Given the description of an element on the screen output the (x, y) to click on. 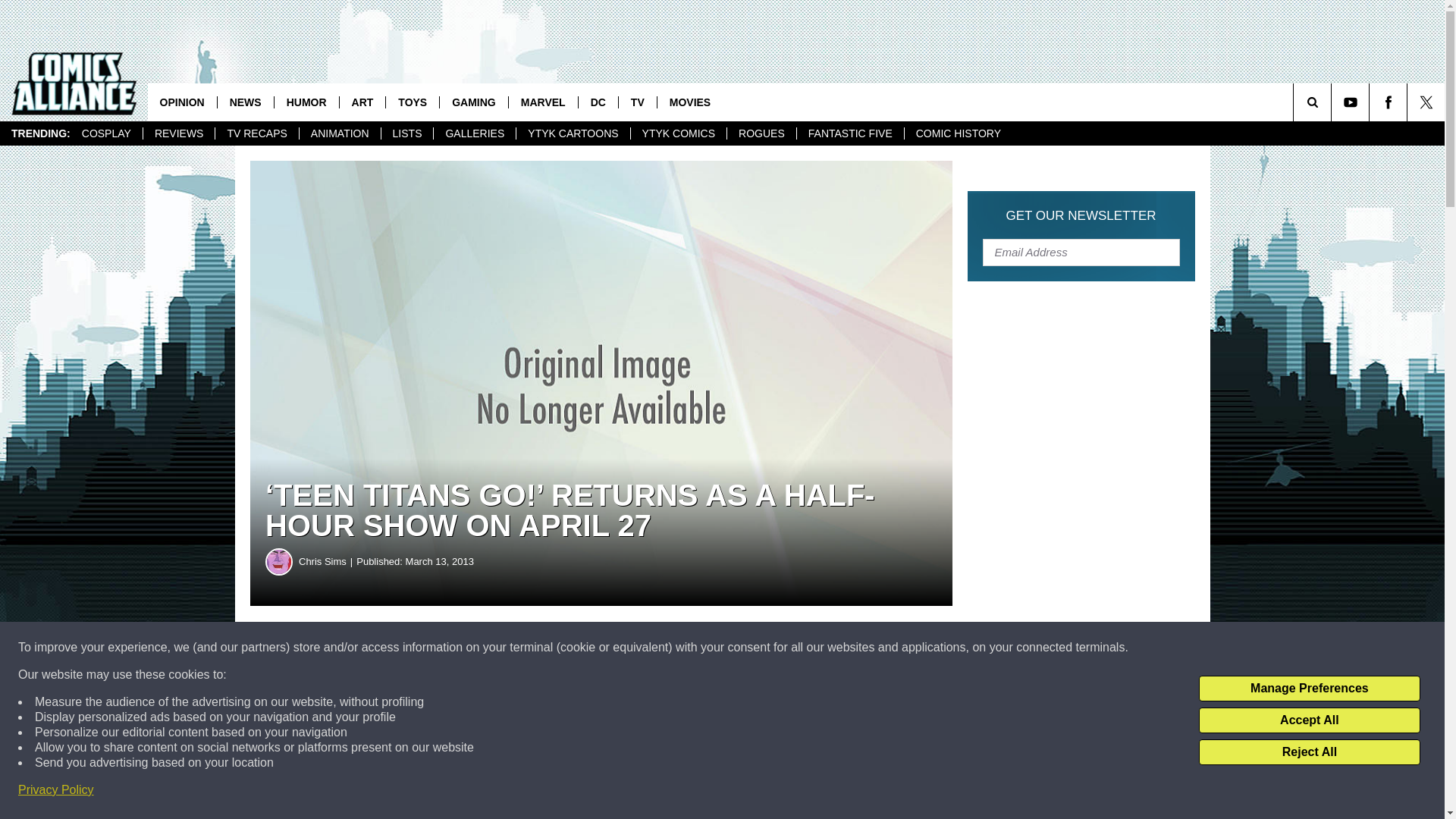
TWEET (741, 647)
LISTS (406, 133)
HUMOR (306, 102)
GAMING (473, 102)
SEARCH (1333, 102)
Chris Sims (278, 561)
NEWS (244, 102)
Visit us on Youtube (1350, 102)
SEARCH (1333, 102)
COMIC HISTORY (957, 133)
SEARCH (1333, 102)
TWEET (741, 647)
GALLERIES (473, 133)
SHARE (460, 647)
Privacy Policy (55, 789)
